Given the description of an element on the screen output the (x, y) to click on. 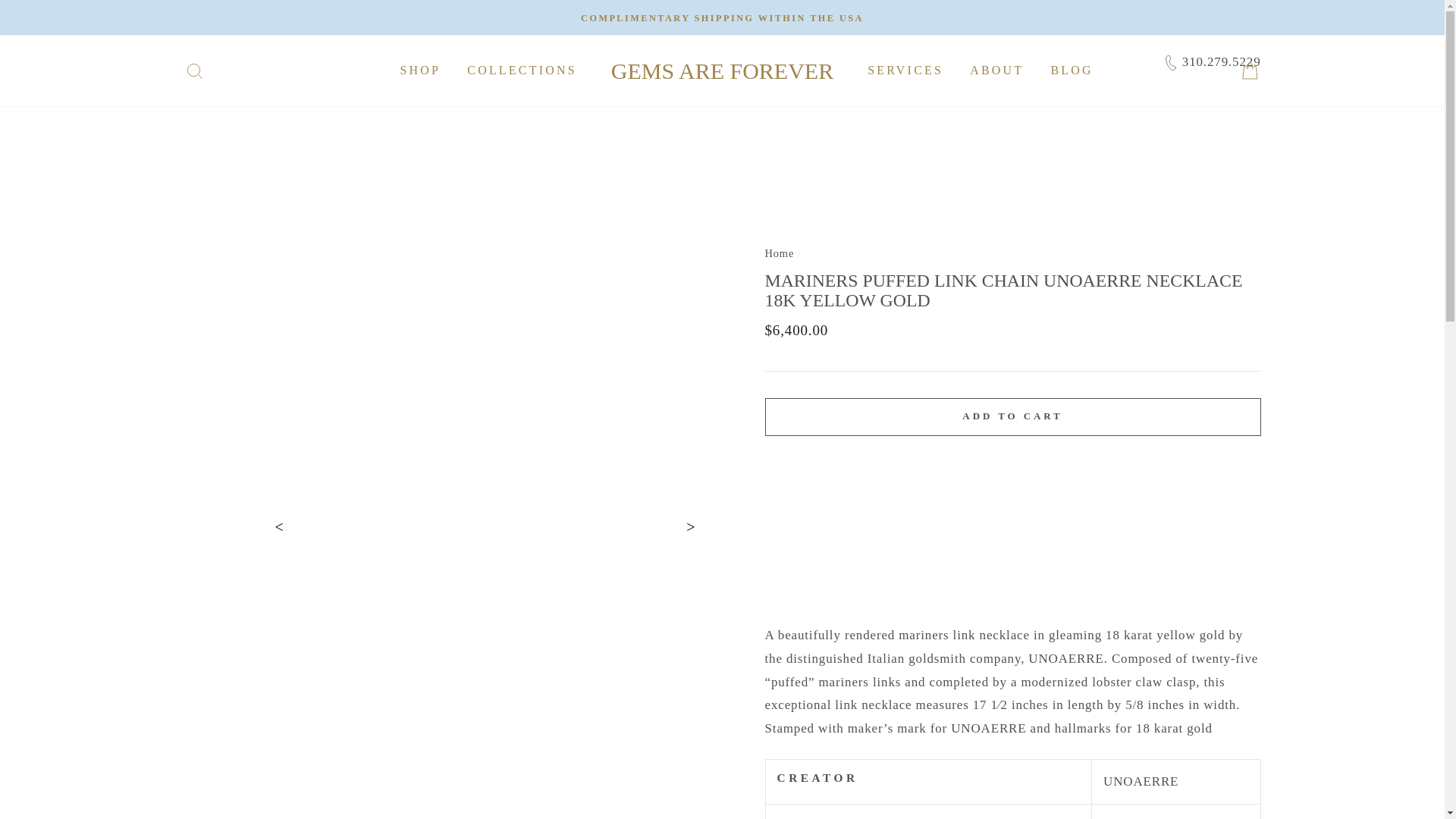
Back to the frontpage (778, 253)
SHOP (419, 70)
SEARCH (194, 70)
